Given the description of an element on the screen output the (x, y) to click on. 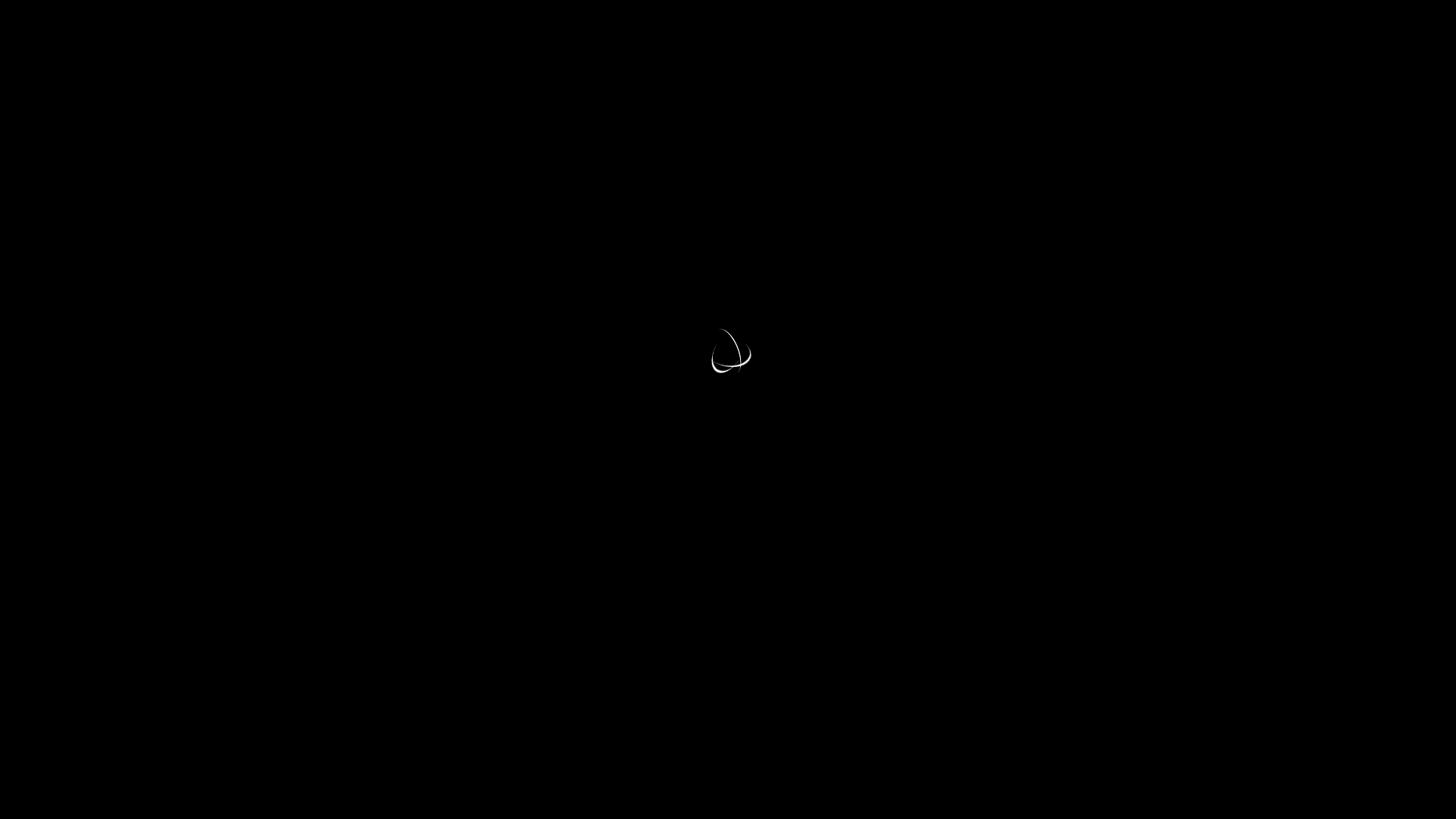
LiveInternet Element type: hover (0, 6)
